Given the description of an element on the screen output the (x, y) to click on. 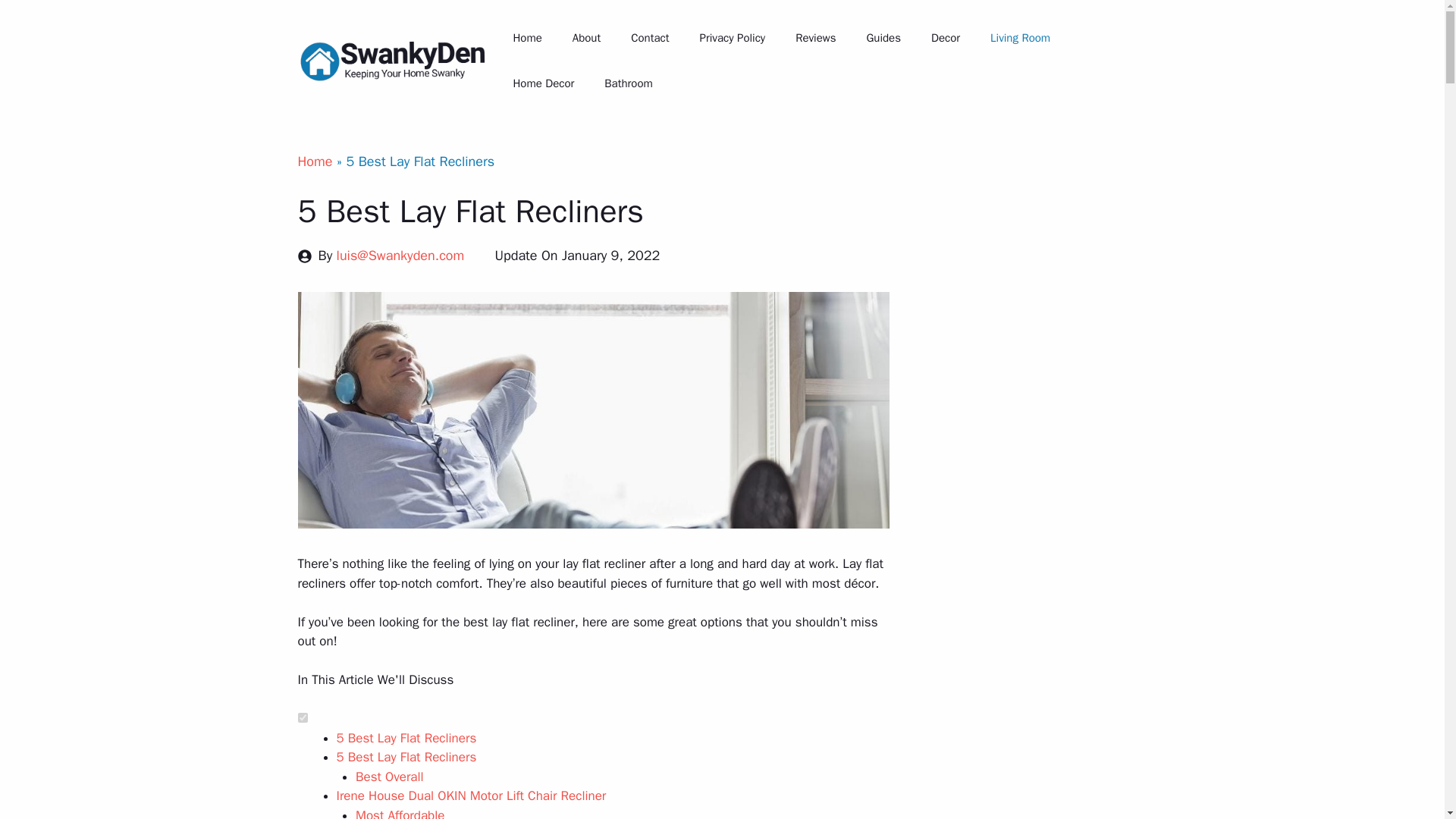
Most Affordable (399, 813)
Privacy Policy (732, 37)
5 Best Lay Flat Recliners (406, 756)
on (302, 717)
5 Best Lay Flat Recliners (406, 738)
About (586, 37)
5 Best Lay Flat Recliners (406, 738)
Guides (882, 37)
swankyden.com (397, 60)
Bathroom (628, 83)
Contact (649, 37)
Home (314, 161)
Living Room (1020, 37)
Decor (945, 37)
Home (526, 37)
